Given the description of an element on the screen output the (x, y) to click on. 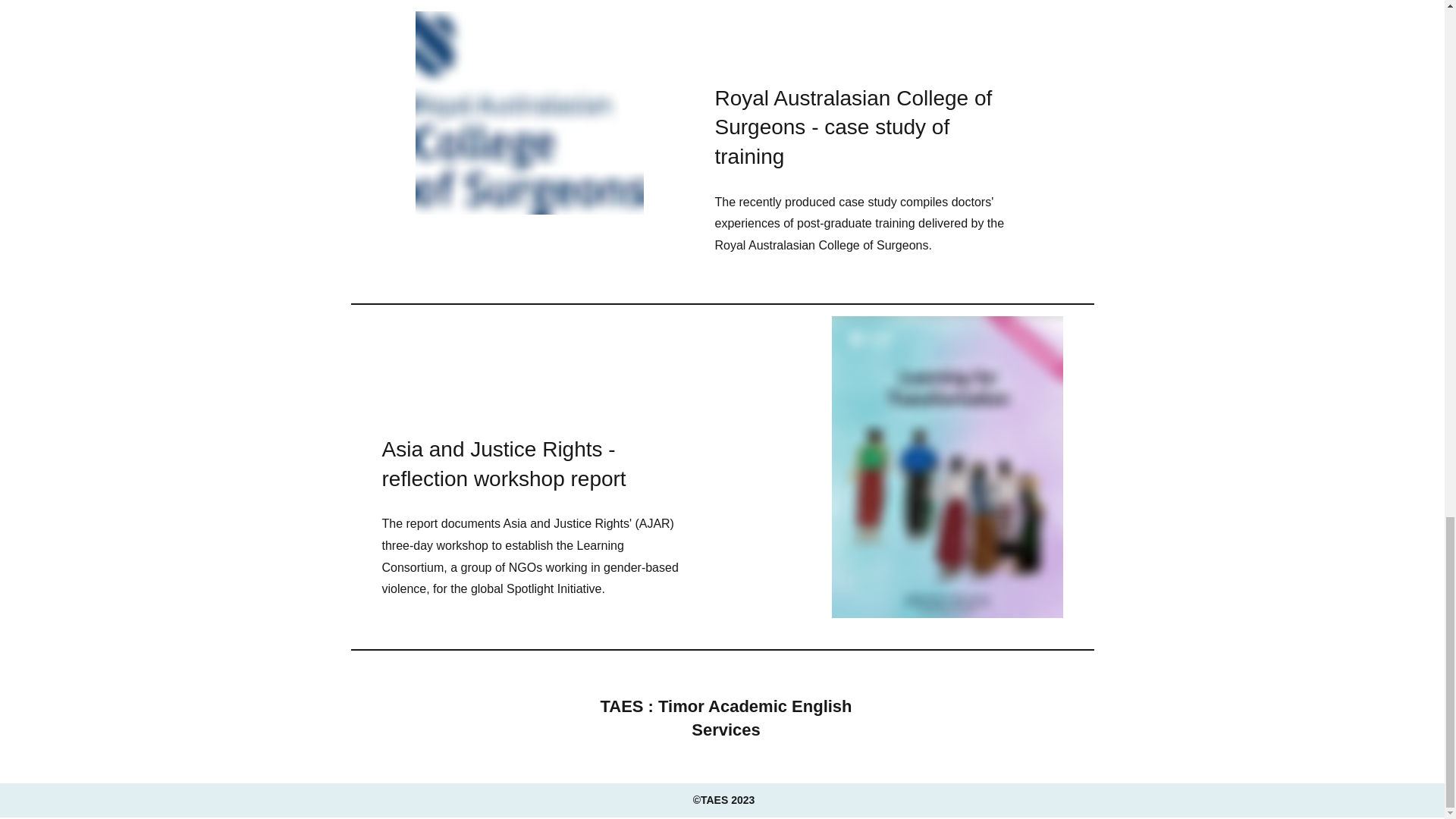
TAES : Timor Academic English Services (725, 717)
